Given the description of an element on the screen output the (x, y) to click on. 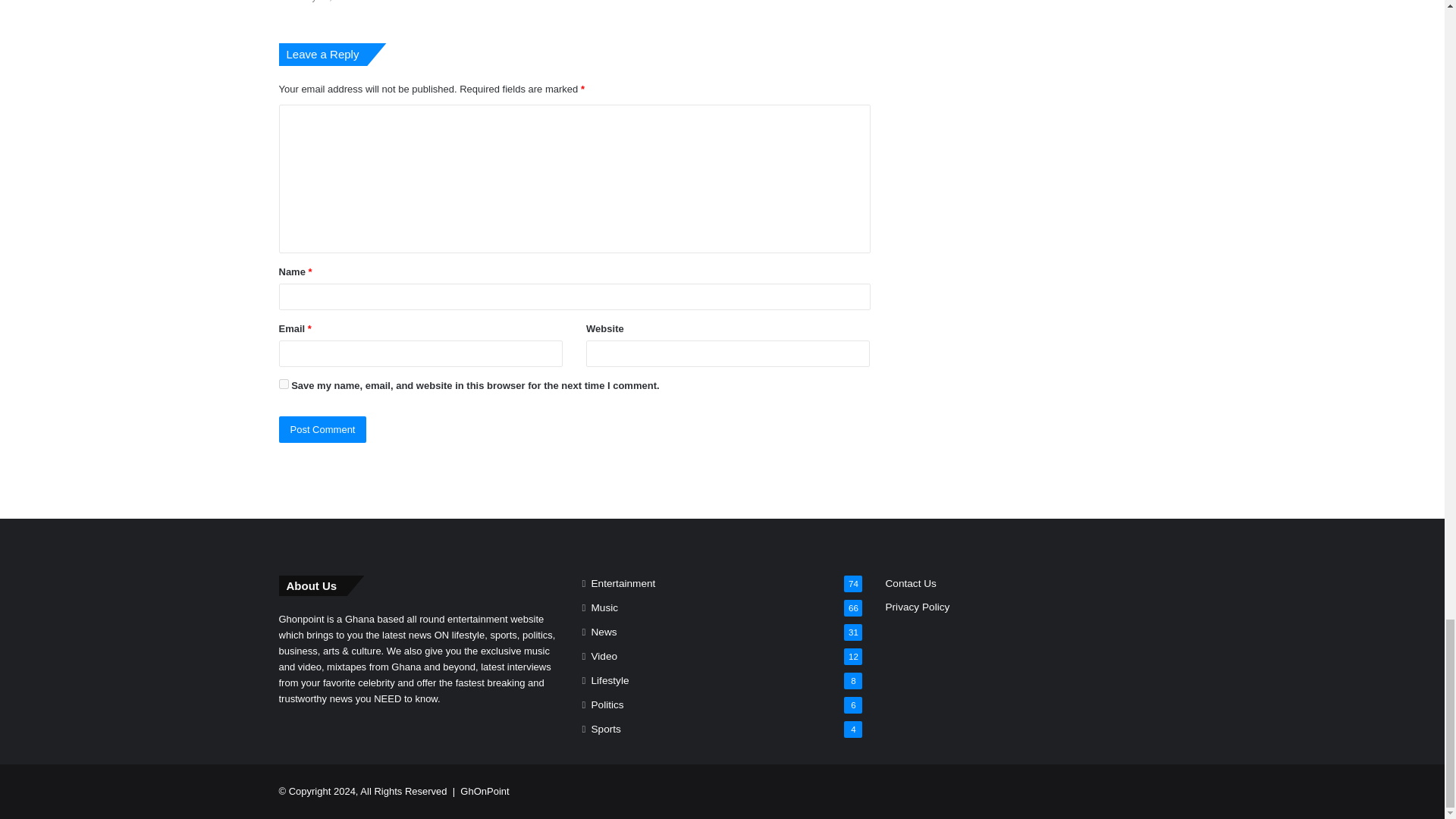
Post Comment (322, 429)
yes (283, 384)
